Given the description of an element on the screen output the (x, y) to click on. 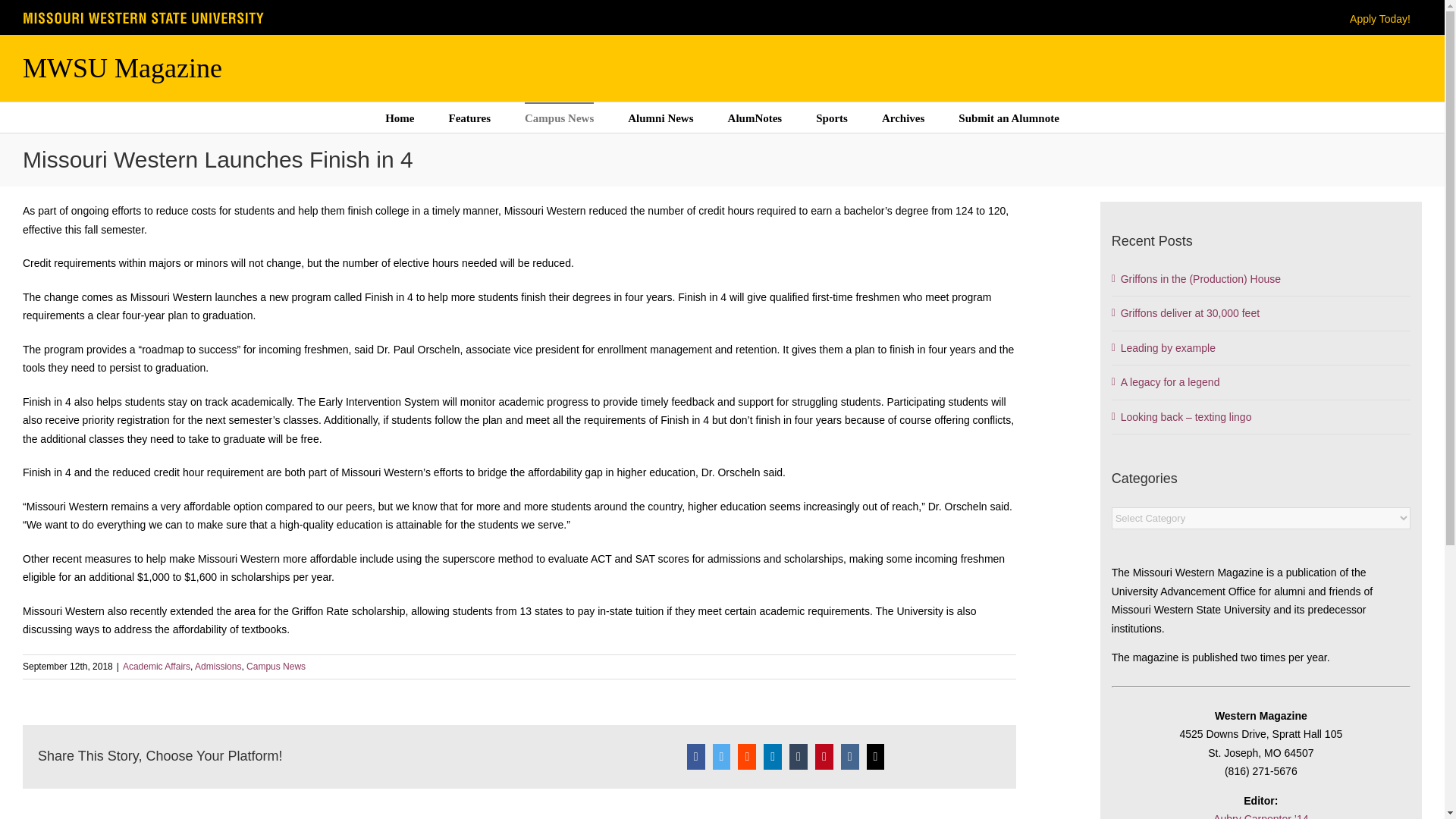
Home (399, 117)
Submit an Alumnote (1008, 117)
Alumni News (660, 117)
Archives (903, 117)
Campus News (559, 117)
Leading by example (1168, 347)
Features (469, 117)
Griffons deliver at 30,000 feet (1190, 313)
A legacy for a legend (1170, 381)
Apply Today! (1379, 19)
